Given the description of an element on the screen output the (x, y) to click on. 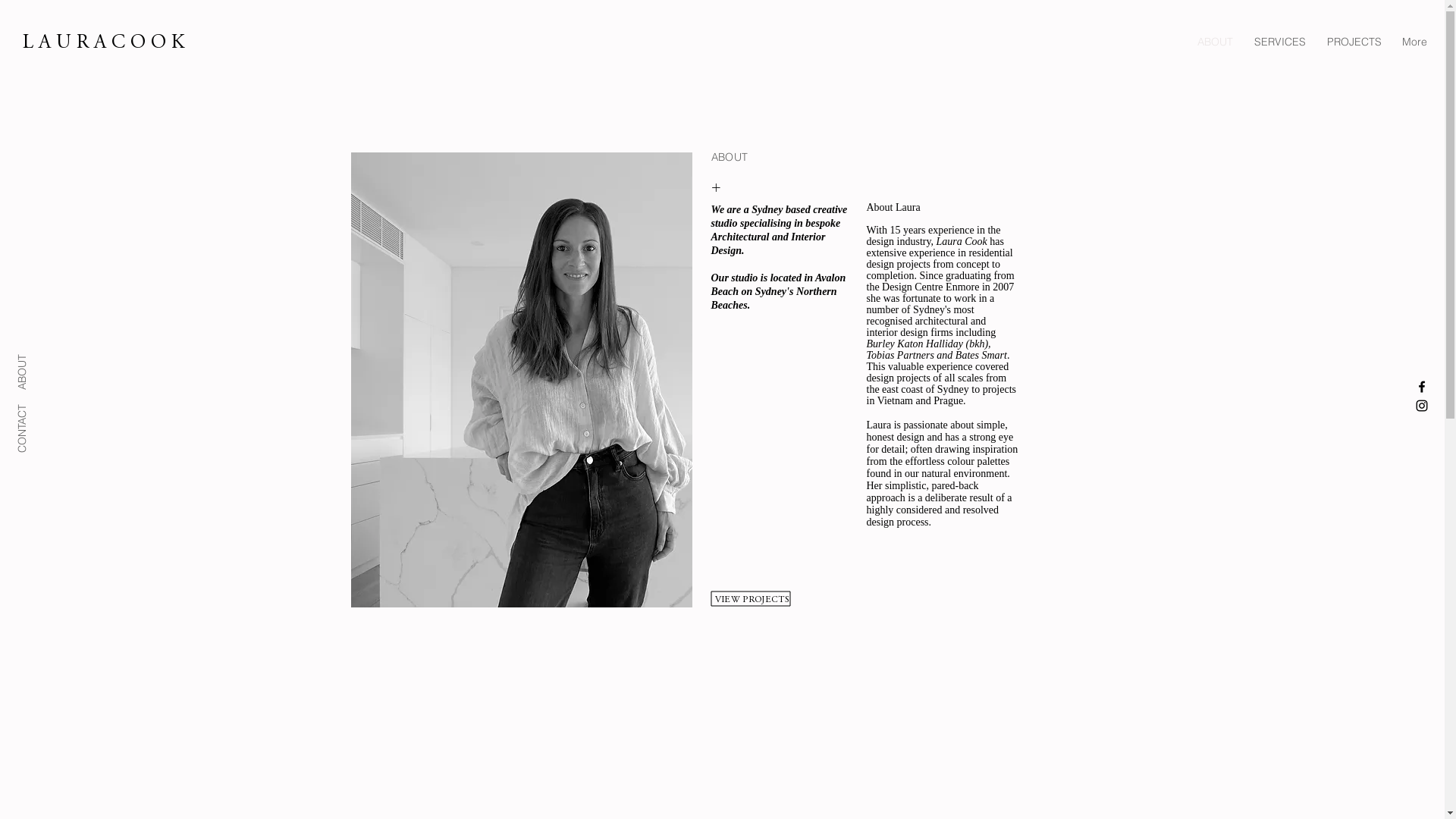
VIEW PROJECTS Element type: text (751, 598)
PROJECTS Element type: text (1353, 41)
L A U R A C O O K Element type: text (103, 39)
Bates Smart Element type: text (981, 354)
ABOUT Element type: text (37, 356)
ABOUT Element type: text (1214, 41)
Avalon Beach Element type: text (778, 283)
Tobias Partners Element type: text (901, 354)
CONTACT Element type: text (45, 405)
SERVICES Element type: text (1279, 41)
Burley Katon Halliday (bkh) Element type: text (927, 343)
